Given the description of an element on the screen output the (x, y) to click on. 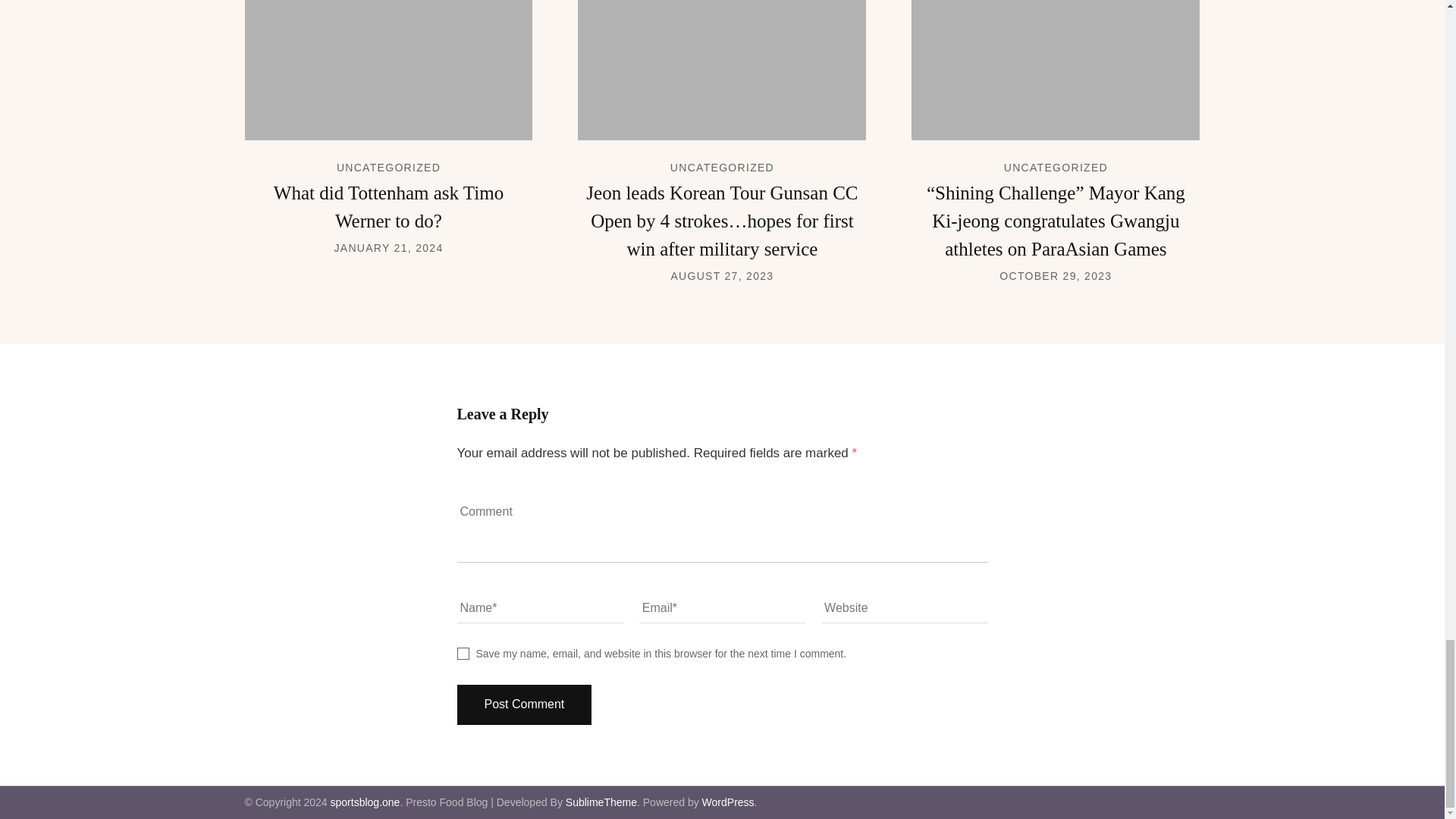
What did Tottenham ask Timo Werner to do? (388, 206)
Post Comment (524, 704)
UNCATEGORIZED (388, 167)
JANUARY 21, 2024 (387, 247)
